Given the description of an element on the screen output the (x, y) to click on. 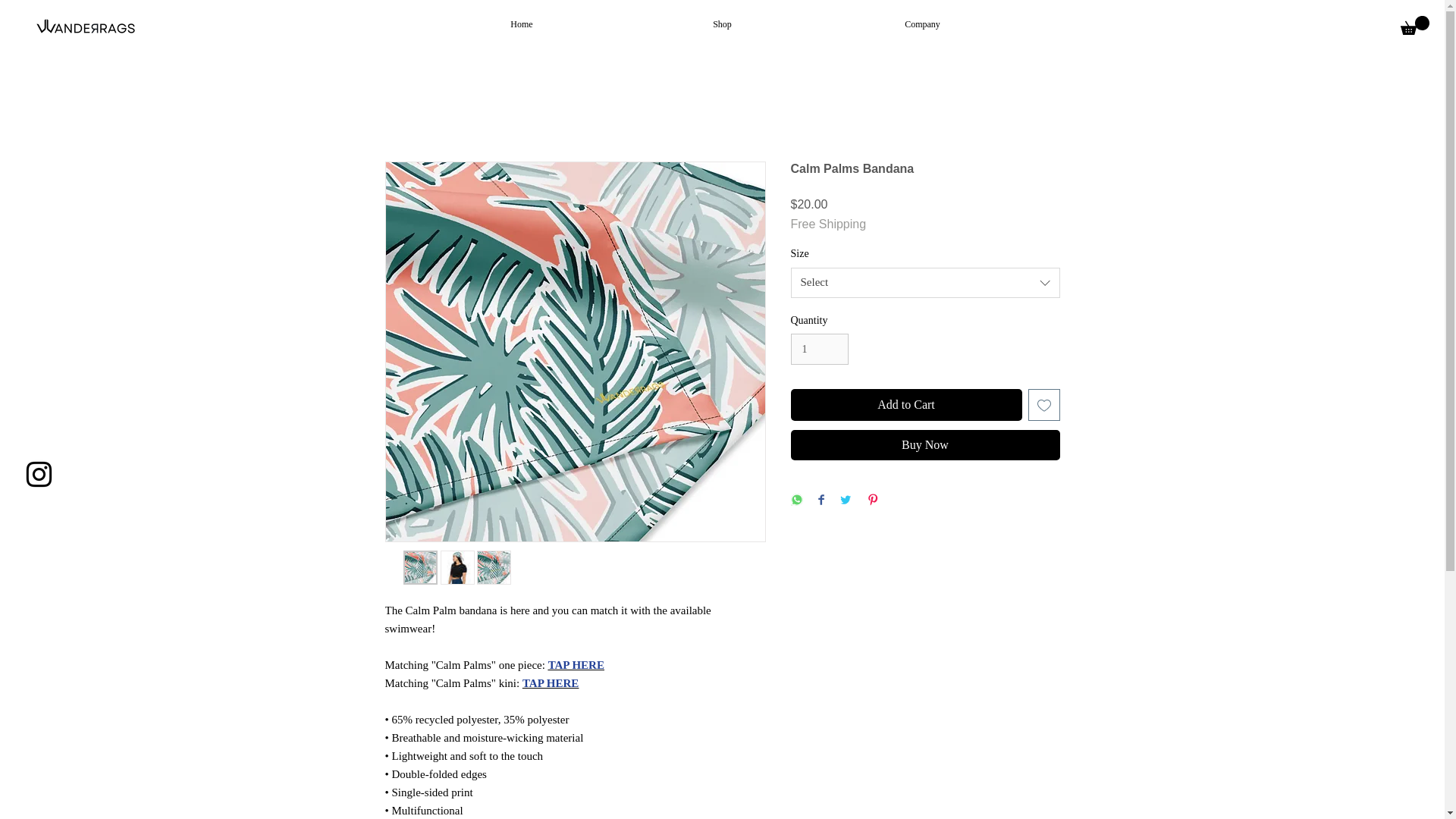
TAP HERE (550, 683)
1 (818, 348)
Free Shipping (828, 223)
Buy Now (924, 444)
Company (922, 24)
Select (924, 282)
TAP HERE (576, 664)
Shop (721, 24)
Add to Cart (906, 404)
Home (522, 24)
